Given the description of an element on the screen output the (x, y) to click on. 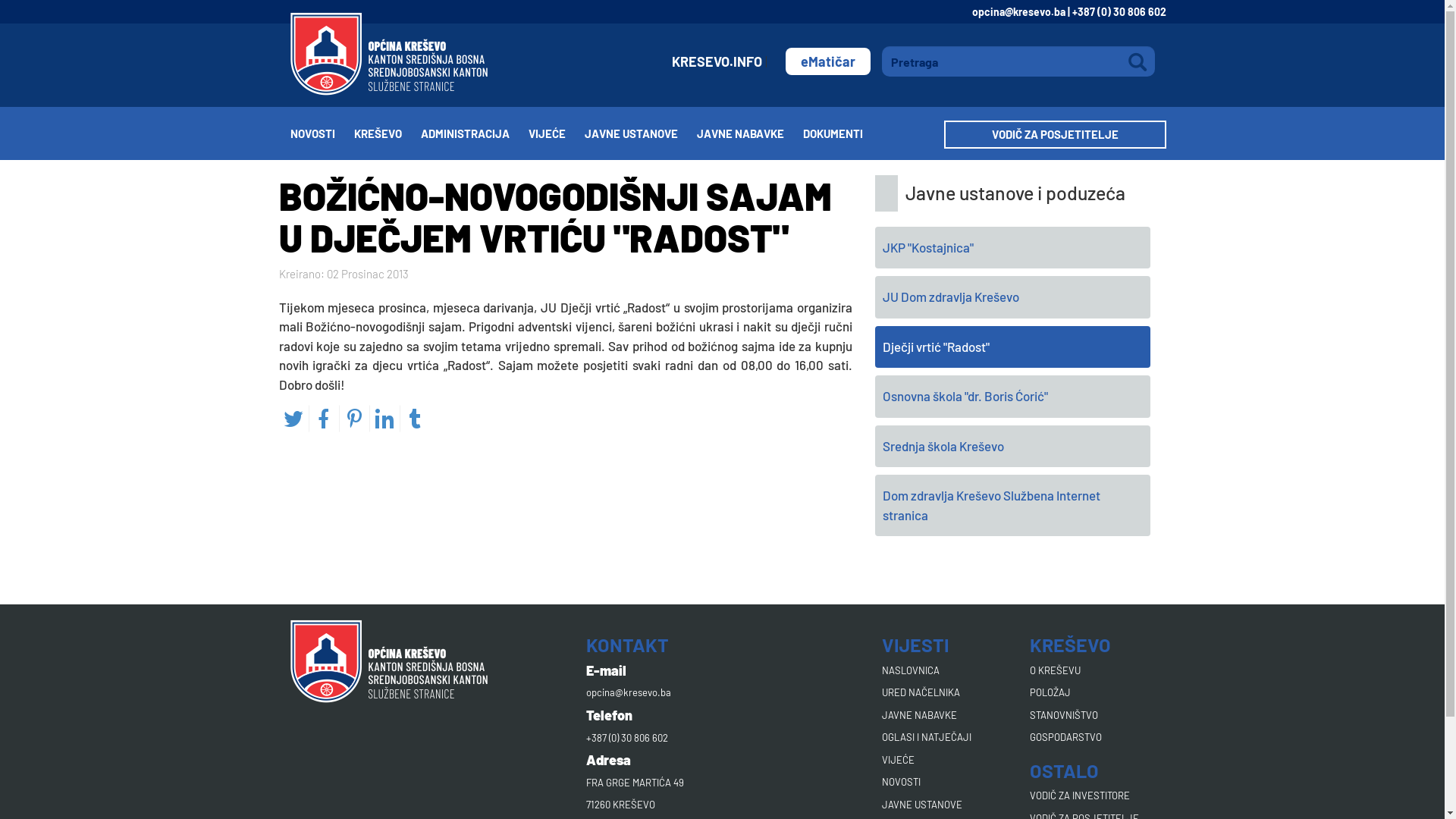
NOVOSTI Element type: text (900, 781)
JAVNE USTANOVE Element type: text (639, 133)
JAVNE USTANOVE Element type: text (921, 803)
JAVNE NABAVKE Element type: text (749, 133)
KRESEVO.INFO Element type: text (718, 61)
GOSPODARSTVO Element type: text (1065, 737)
NASLOVNICA Element type: text (909, 670)
opcina@kresevo.ba Element type: text (627, 692)
NOVOSTI Element type: text (321, 133)
JKP "Kostajnica" Element type: text (1012, 246)
ADMINISTRACIJA Element type: text (473, 133)
DOKUMENTI Element type: text (841, 133)
JAVNE NABAVKE Element type: text (918, 714)
